Given the description of an element on the screen output the (x, y) to click on. 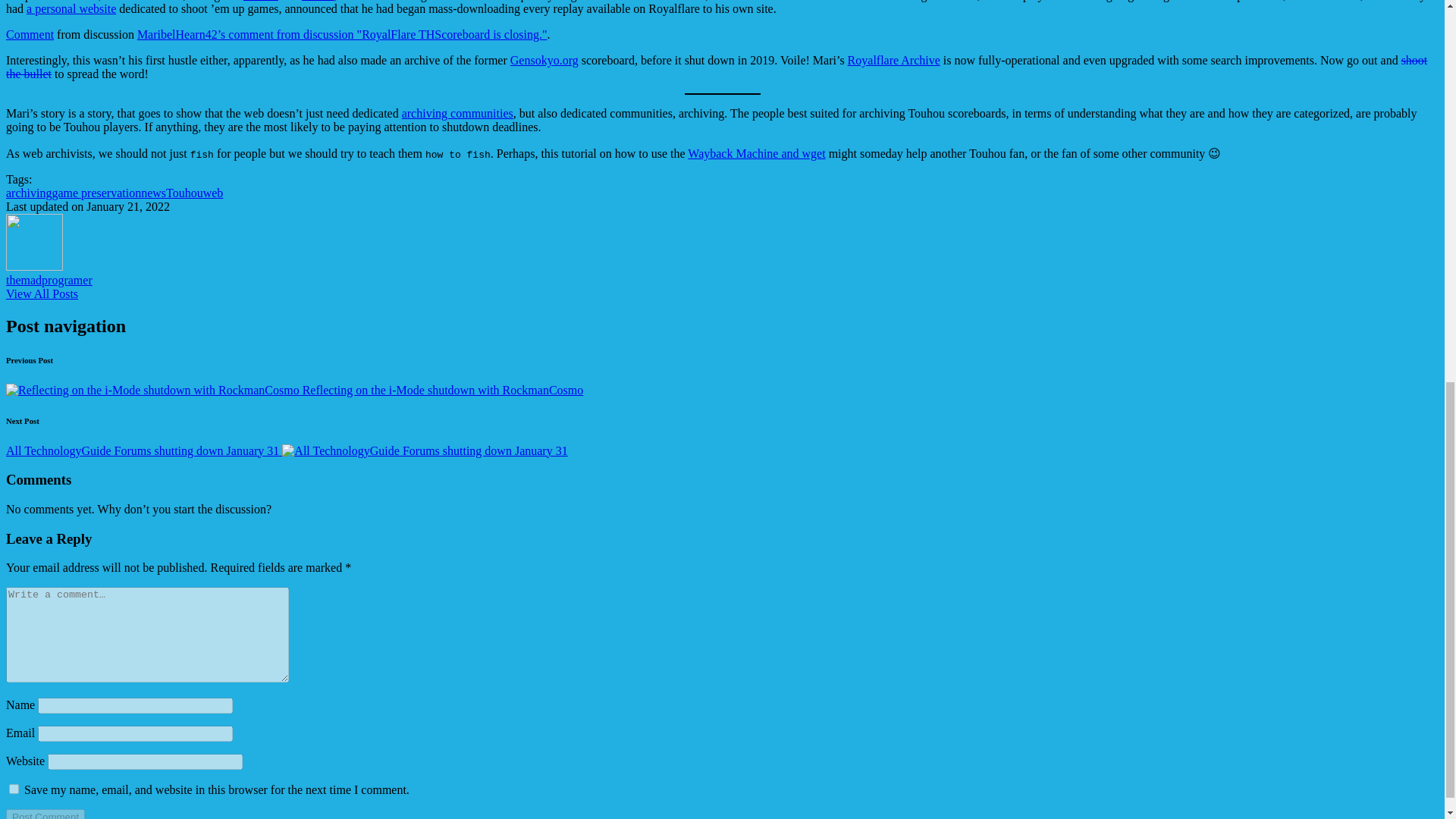
Gensokyo.org (544, 60)
Comment (29, 33)
archiving communities (457, 113)
a personal website (71, 8)
Royalflare Archive (893, 60)
Wayback Machine and wget (756, 153)
Twitter (260, 0)
Reddit (317, 0)
yes (13, 788)
shoot the bullet (715, 67)
